Given the description of an element on the screen output the (x, y) to click on. 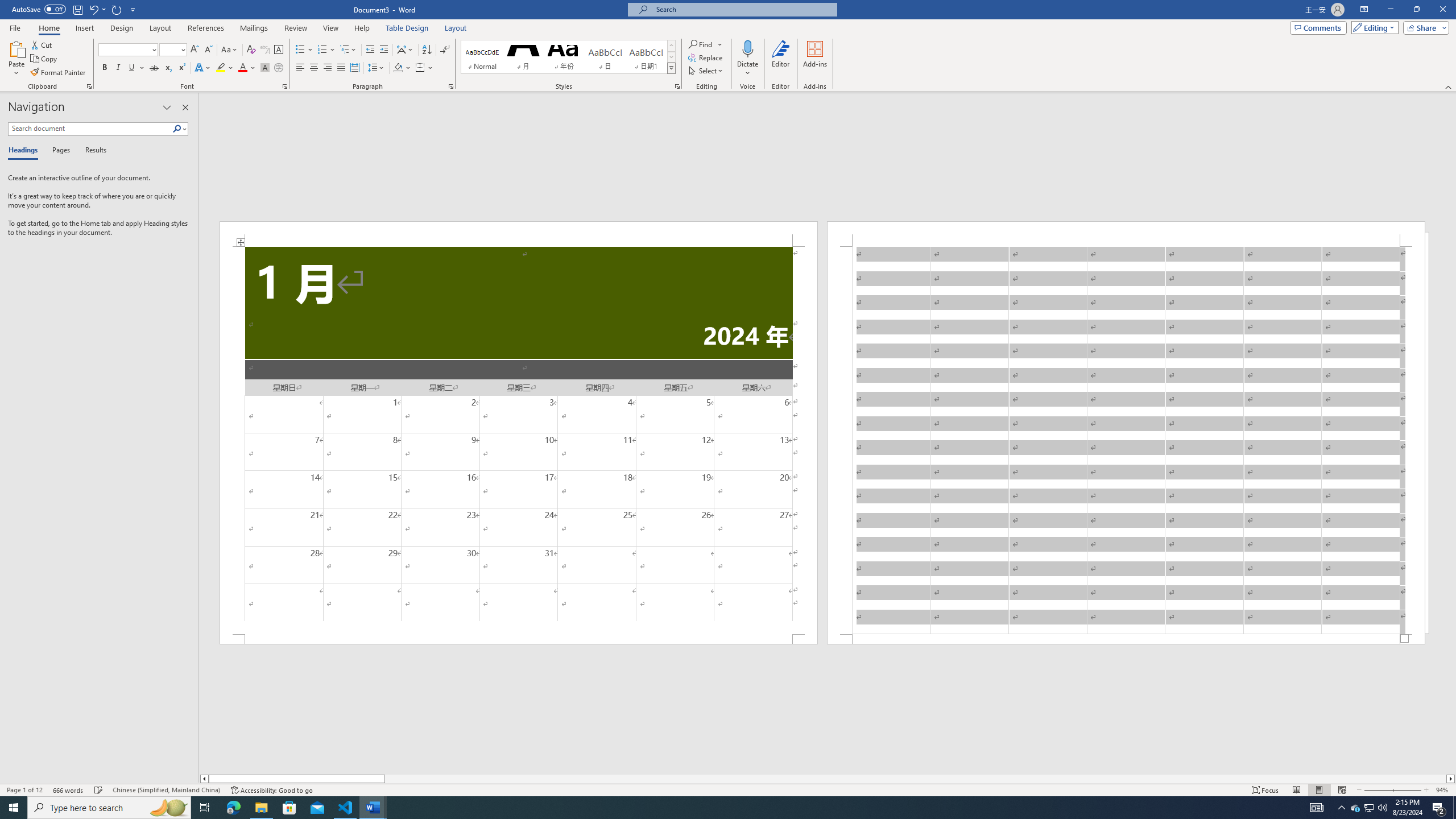
Footer -Section 1- (1126, 638)
Page right (914, 778)
Page 2 content (1126, 439)
Undo Grow Font (92, 9)
Row Down (670, 56)
Subscript (167, 67)
Clear Formatting (250, 49)
Italic (118, 67)
Headings (25, 150)
Line and Paragraph Spacing (376, 67)
